Given the description of an element on the screen output the (x, y) to click on. 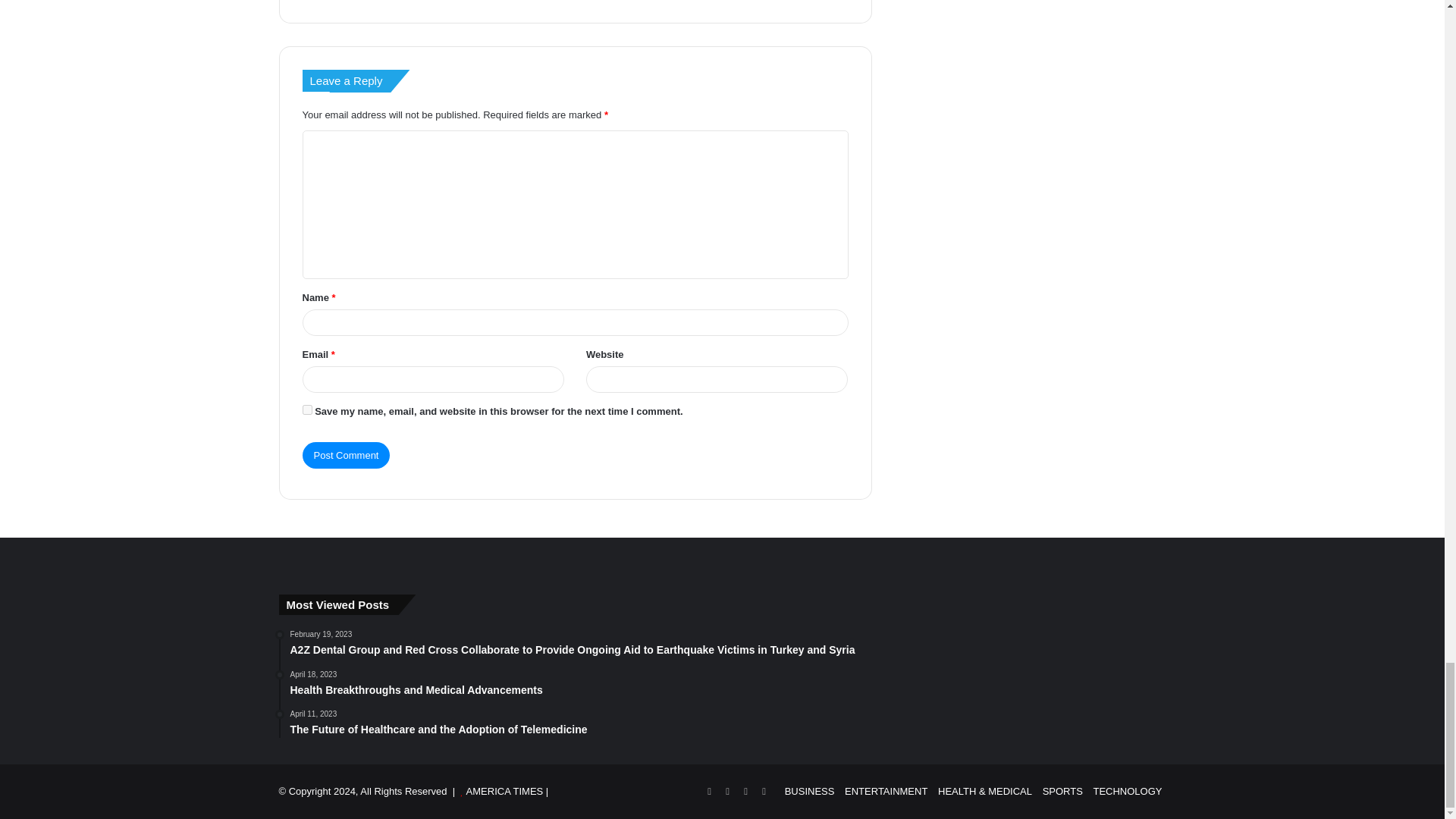
yes (306, 409)
Post Comment (345, 455)
